Given the description of an element on the screen output the (x, y) to click on. 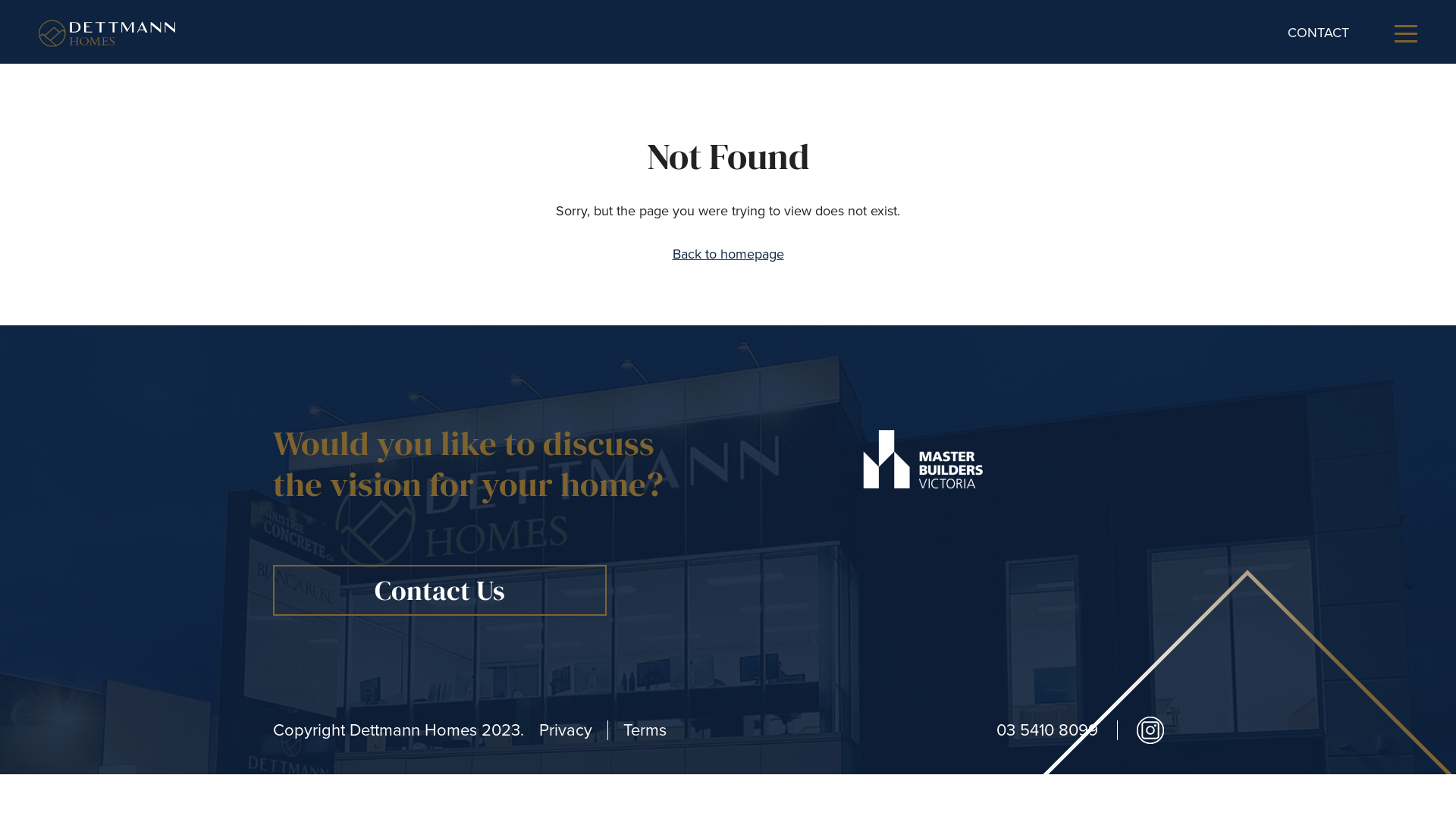
Contact Us Element type: text (439, 589)
CONTACT Element type: text (1318, 32)
Terms Element type: text (644, 730)
Back to homepage Element type: text (727, 253)
Privacy Element type: text (565, 730)
03 5410 8099 Element type: text (1047, 730)
